Given the description of an element on the screen output the (x, y) to click on. 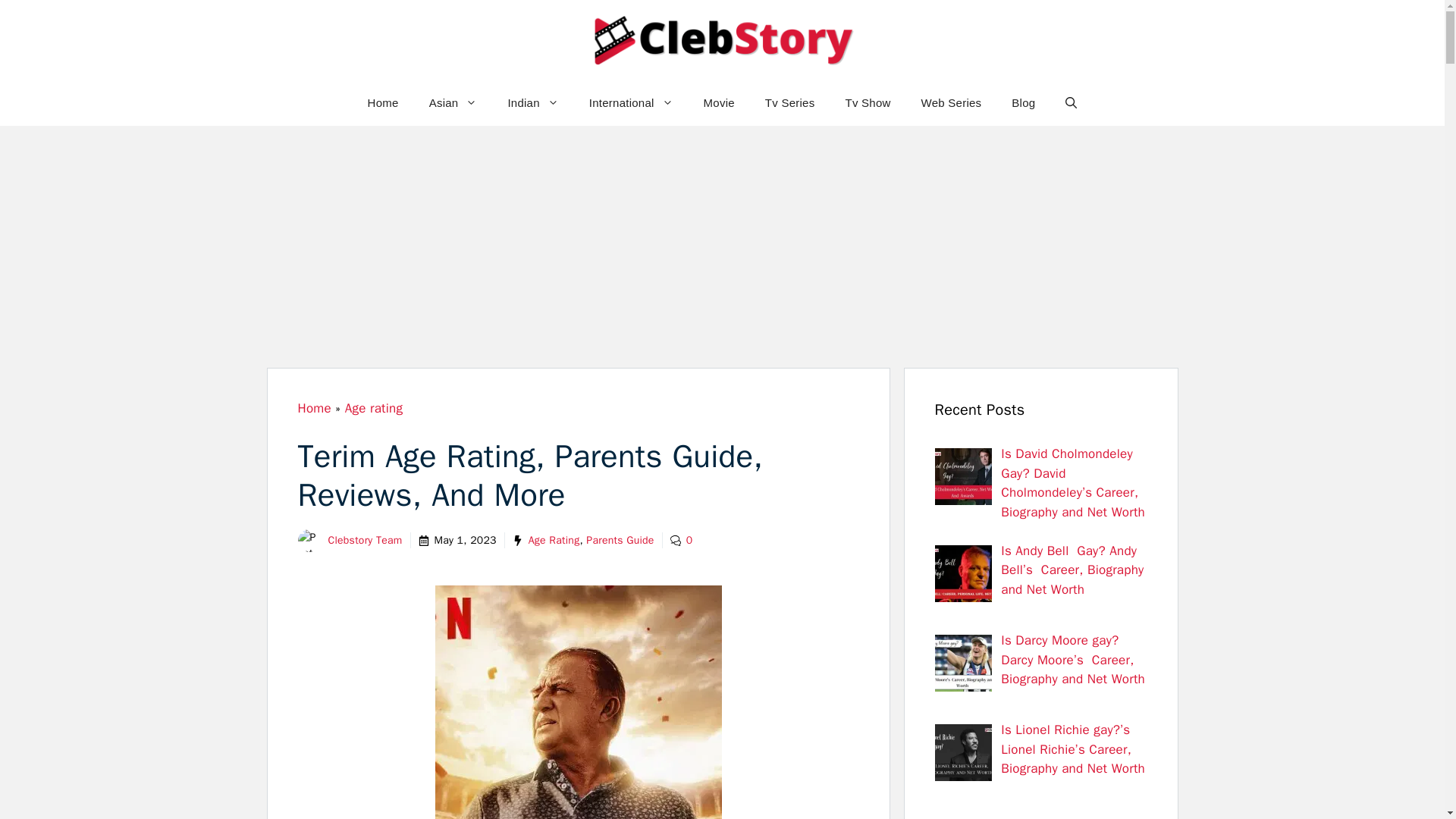
Asian (453, 103)
Home (382, 103)
International (630, 103)
Indian (532, 103)
